Given the description of an element on the screen output the (x, y) to click on. 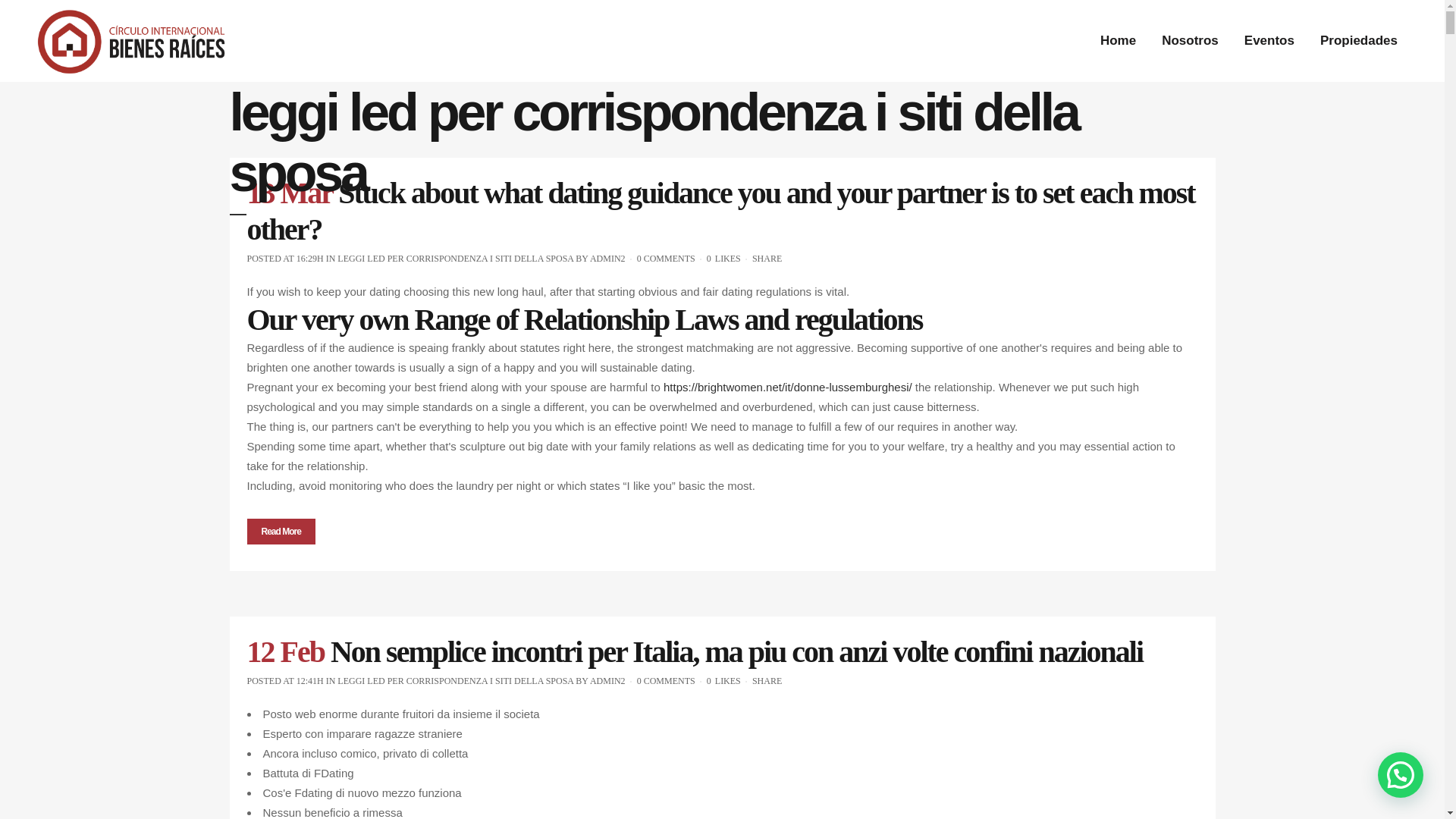
0 COMMENTS (666, 680)
Eventos (1269, 40)
Like this (723, 680)
Nosotros (1189, 40)
SHARE (766, 258)
Propiedades (1358, 40)
LEGGI LED PER CORRISPONDENZA I SITI DELLA SPOSA (455, 258)
Like this (723, 258)
LEGGI LED PER CORRISPONDENZA I SITI DELLA SPOSA (455, 680)
ADMIN2 (607, 680)
0 LIKES (723, 258)
